Given the description of an element on the screen output the (x, y) to click on. 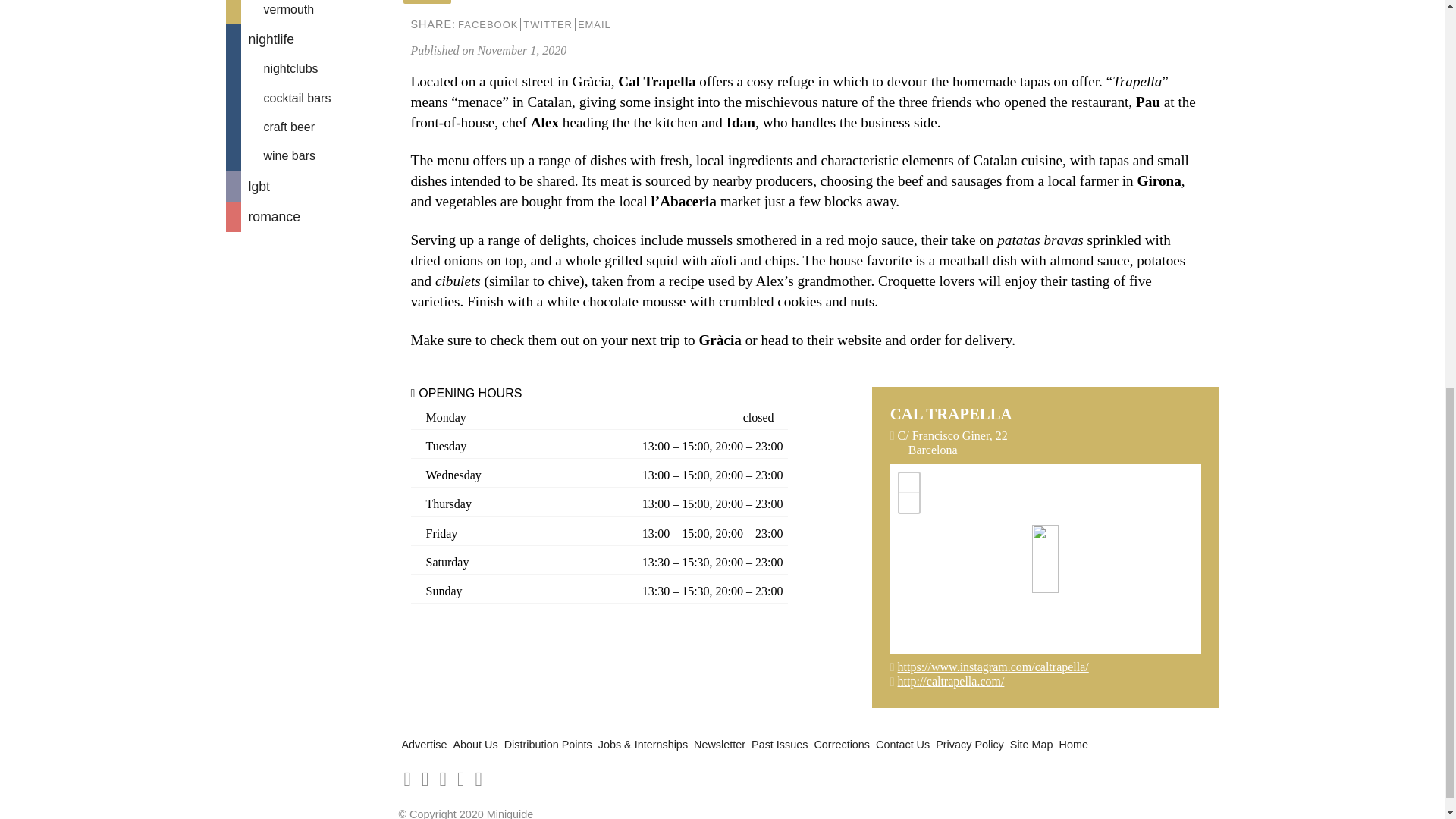
vermouth (309, 12)
Zoom out (908, 502)
EMAIL (593, 24)
lgbt (309, 186)
wine bars (309, 155)
cocktail bars (309, 98)
nightclubs (309, 68)
tapas (427, 2)
craft beer (309, 127)
nightlife (309, 39)
Zoom in (908, 483)
TWITTER (547, 24)
romance (309, 216)
FACEBOOK (487, 24)
